Given the description of an element on the screen output the (x, y) to click on. 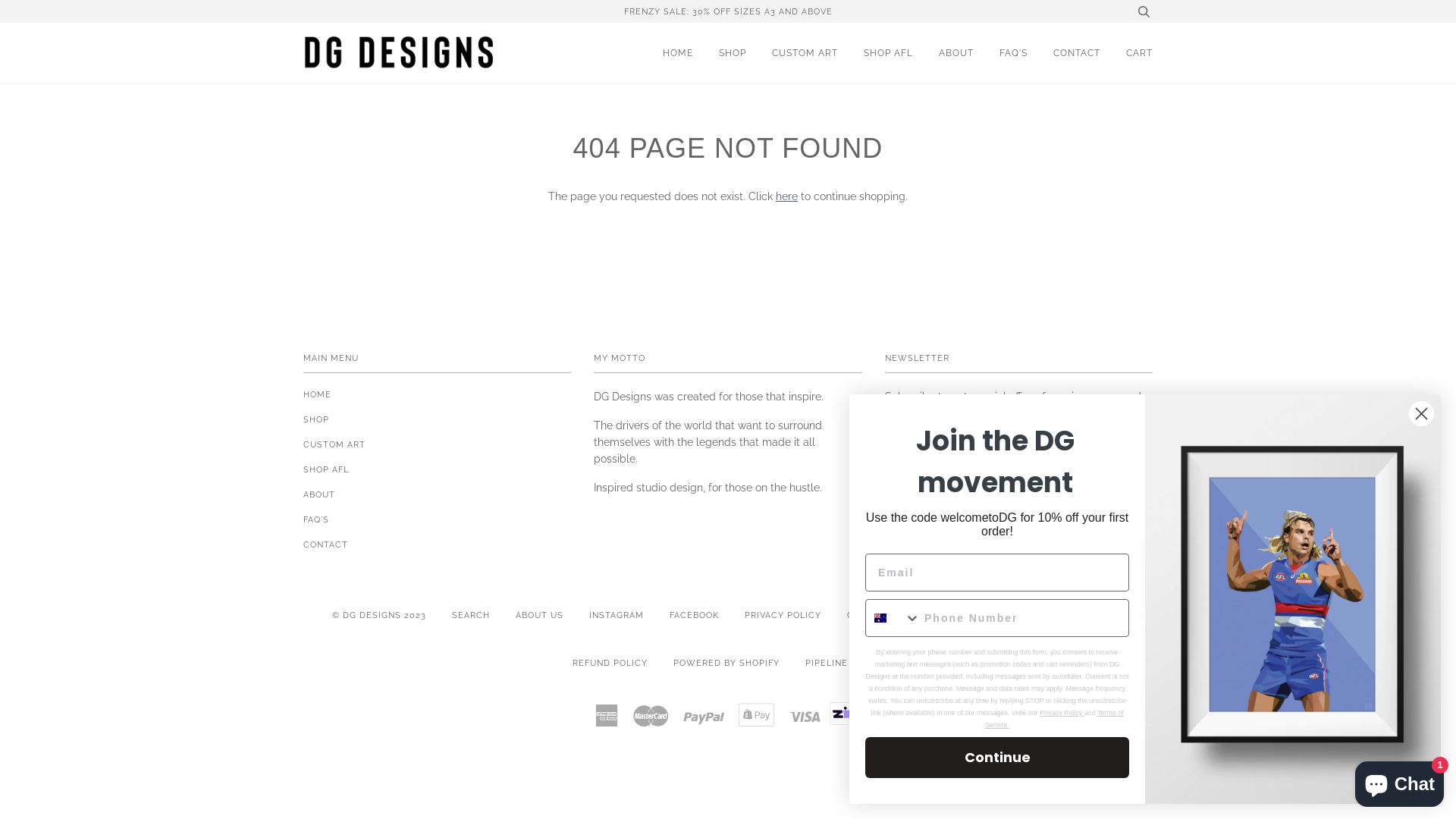
SHOP AFL Element type: text (325, 469)
SHOP AFL Element type: text (888, 52)
FAQ'S Element type: text (316, 519)
Australia Element type: hover (880, 617)
POWERED BY SHOPIFY Element type: text (726, 662)
HOME Element type: text (677, 52)
Submit Element type: text (28, 15)
INSTAGRAM Element type: text (615, 614)
CUSTOM ART Element type: text (334, 444)
Terms of Service. Element type: text (1054, 718)
SEARCH Element type: text (470, 614)
ABOUT US Element type: text (539, 614)
FAQ'S Element type: text (1013, 52)
CONTACT Element type: text (325, 544)
Continue Element type: text (997, 757)
Subscribe Element type: text (1113, 452)
REFUND POLICY Element type: text (608, 662)
CONSUMER TERMS & CONDITIONS Element type: text (926, 614)
FACEBOOK Element type: text (693, 614)
PIPELINE THEME Element type: text (844, 662)
PRIVACY POLICY Element type: text (782, 614)
here Element type: text (786, 196)
Privacy Policy Element type: text (1060, 712)
CONTACT Element type: text (1076, 52)
Shopify online store chat Element type: hover (1399, 780)
SHOP Element type: text (732, 52)
CART Element type: text (1139, 52)
CUSTOM ART Element type: text (804, 52)
TERMS OF SERVICE Element type: text (1077, 614)
HOME Element type: text (317, 394)
ABOUT Element type: text (955, 52)
ABOUT Element type: text (319, 494)
SHOP Element type: text (316, 419)
